Given the description of an element on the screen output the (x, y) to click on. 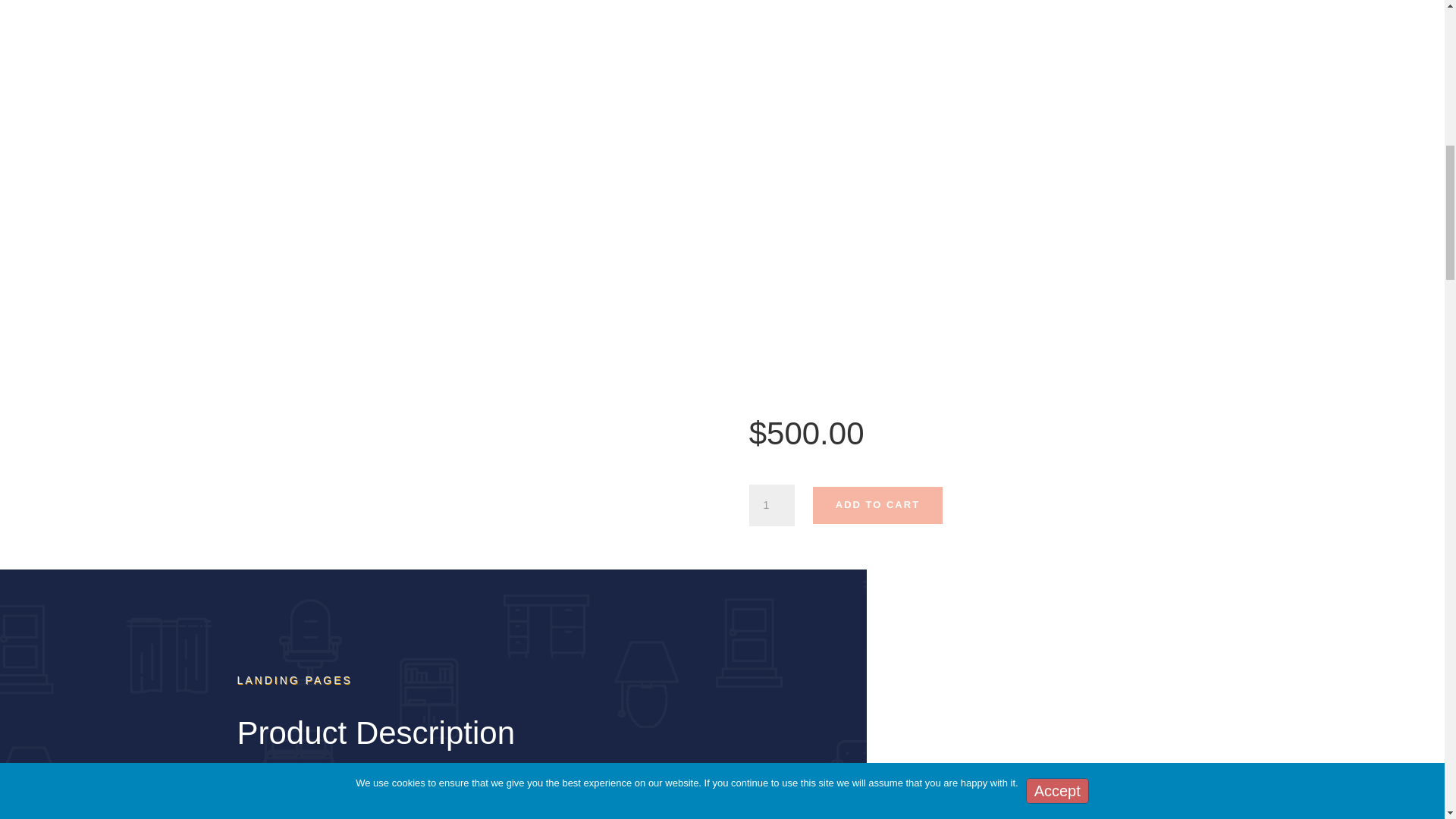
ADD TO CART (877, 504)
1 (771, 505)
